Given the description of an element on the screen output the (x, y) to click on. 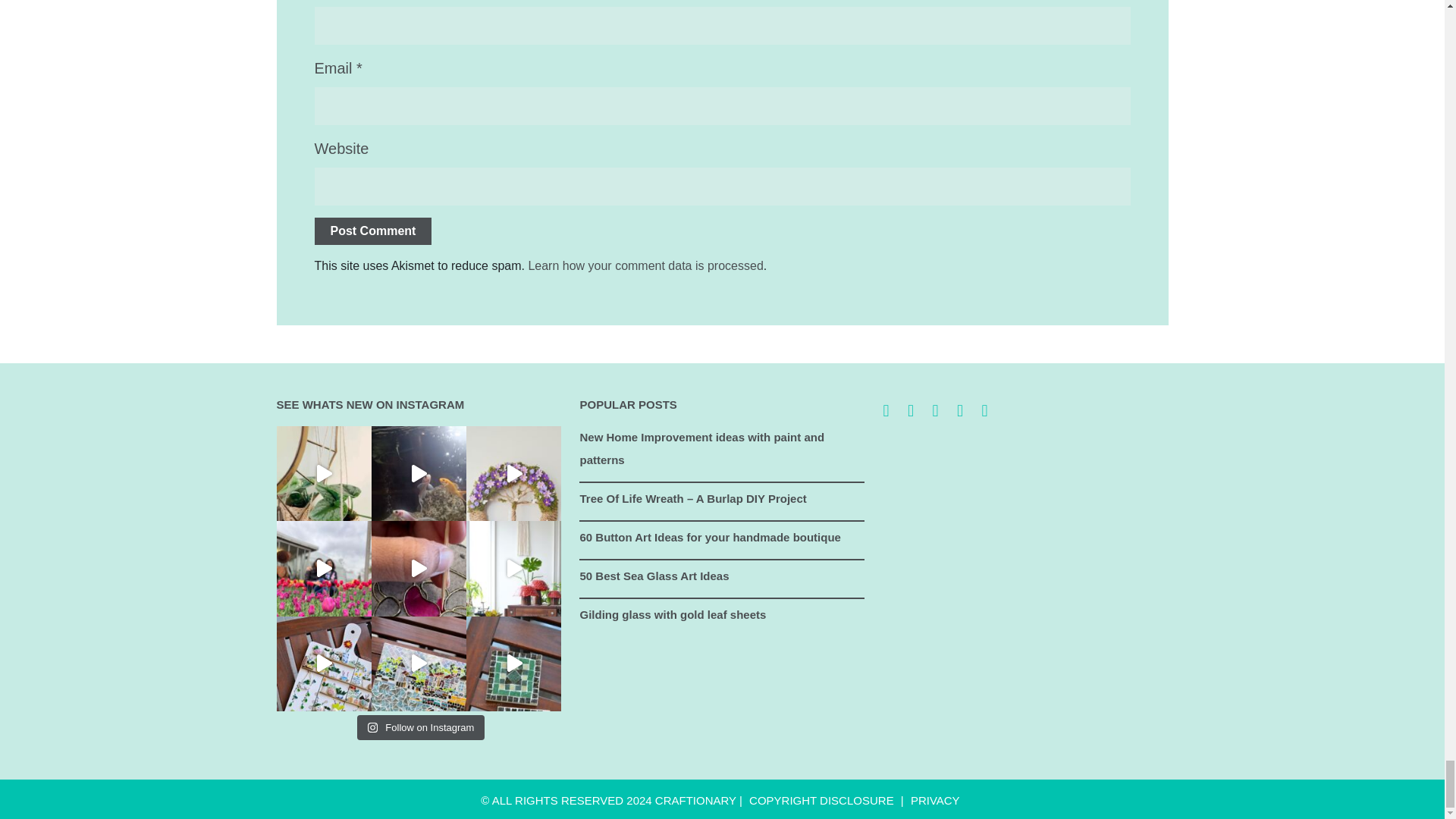
Post Comment (372, 230)
